Given the description of an element on the screen output the (x, y) to click on. 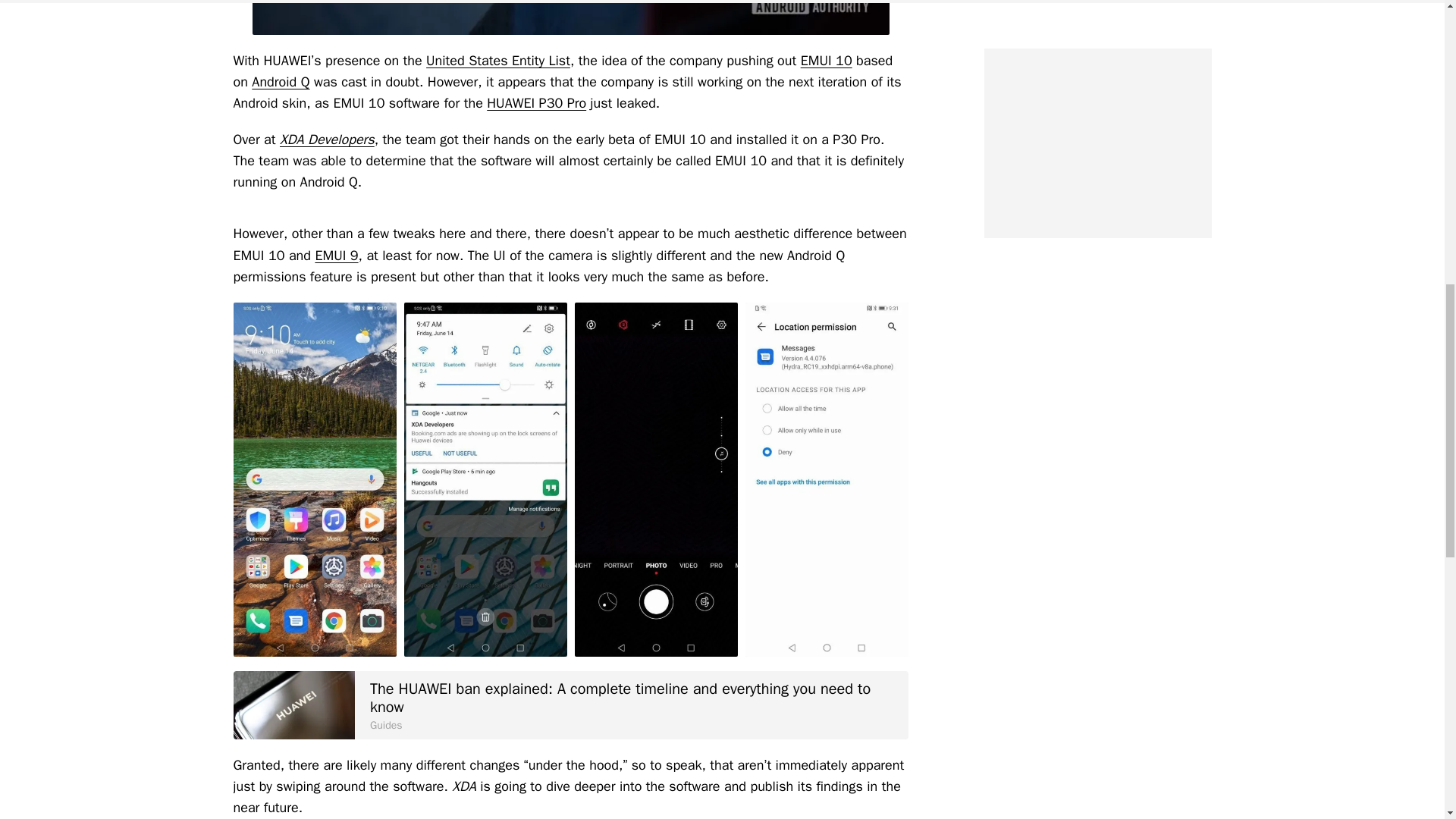
HUAWEI P30 Pro (536, 103)
Android Q (279, 81)
HUAWEI P30 Pro display on stairs (569, 17)
EMUI 10 (825, 60)
XDA Developers (326, 139)
United States Entity List (498, 60)
EMUI 9 (336, 255)
HUAWEI logo P40 Pro (293, 704)
